Given the description of an element on the screen output the (x, y) to click on. 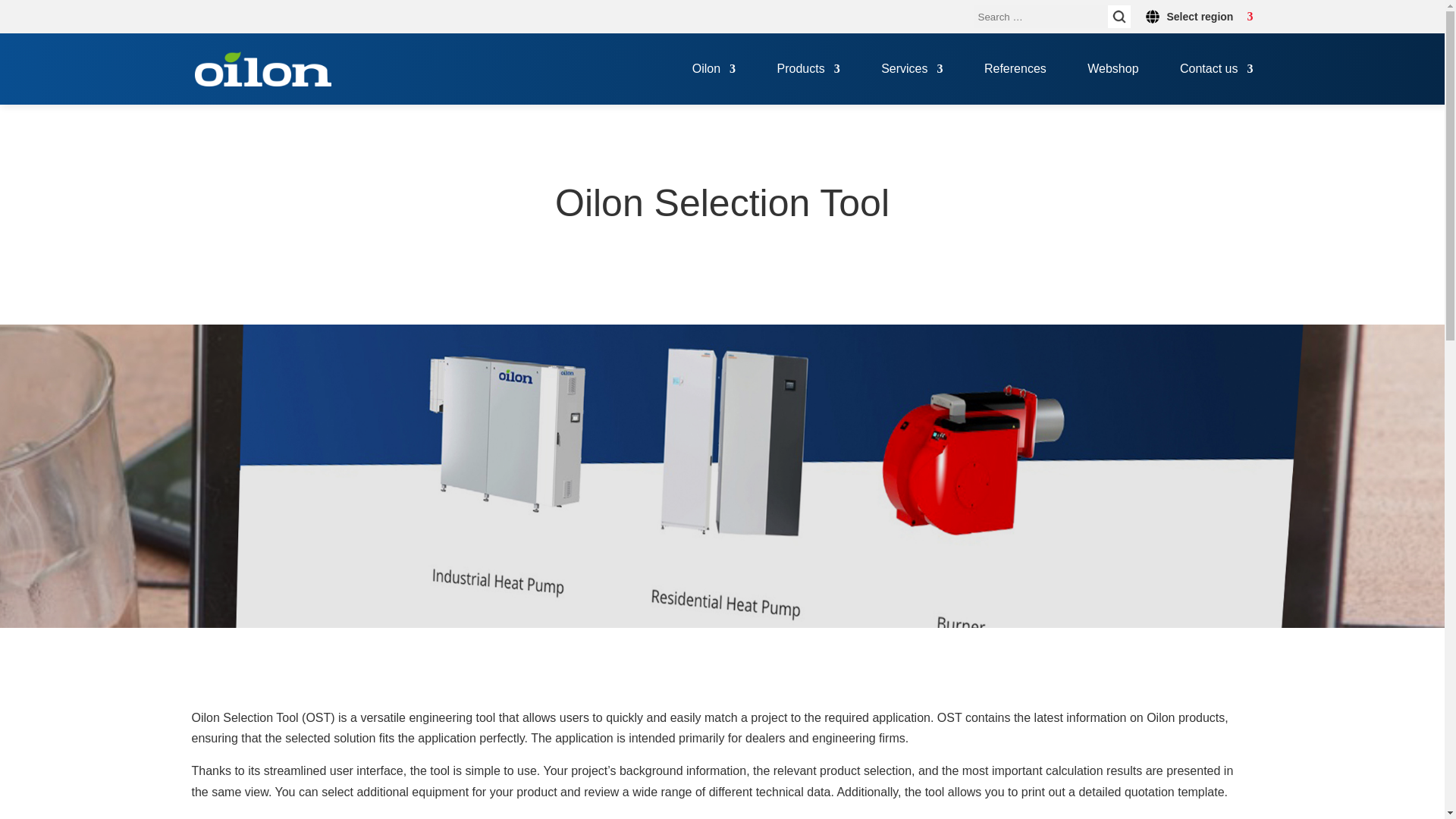
References (1015, 83)
Select region (1198, 15)
Webshop (1112, 83)
Products (808, 83)
Oilon (714, 83)
Contact us (1215, 83)
Search (1117, 15)
Services (911, 83)
Search (1117, 15)
Search (1117, 15)
